Given the description of an element on the screen output the (x, y) to click on. 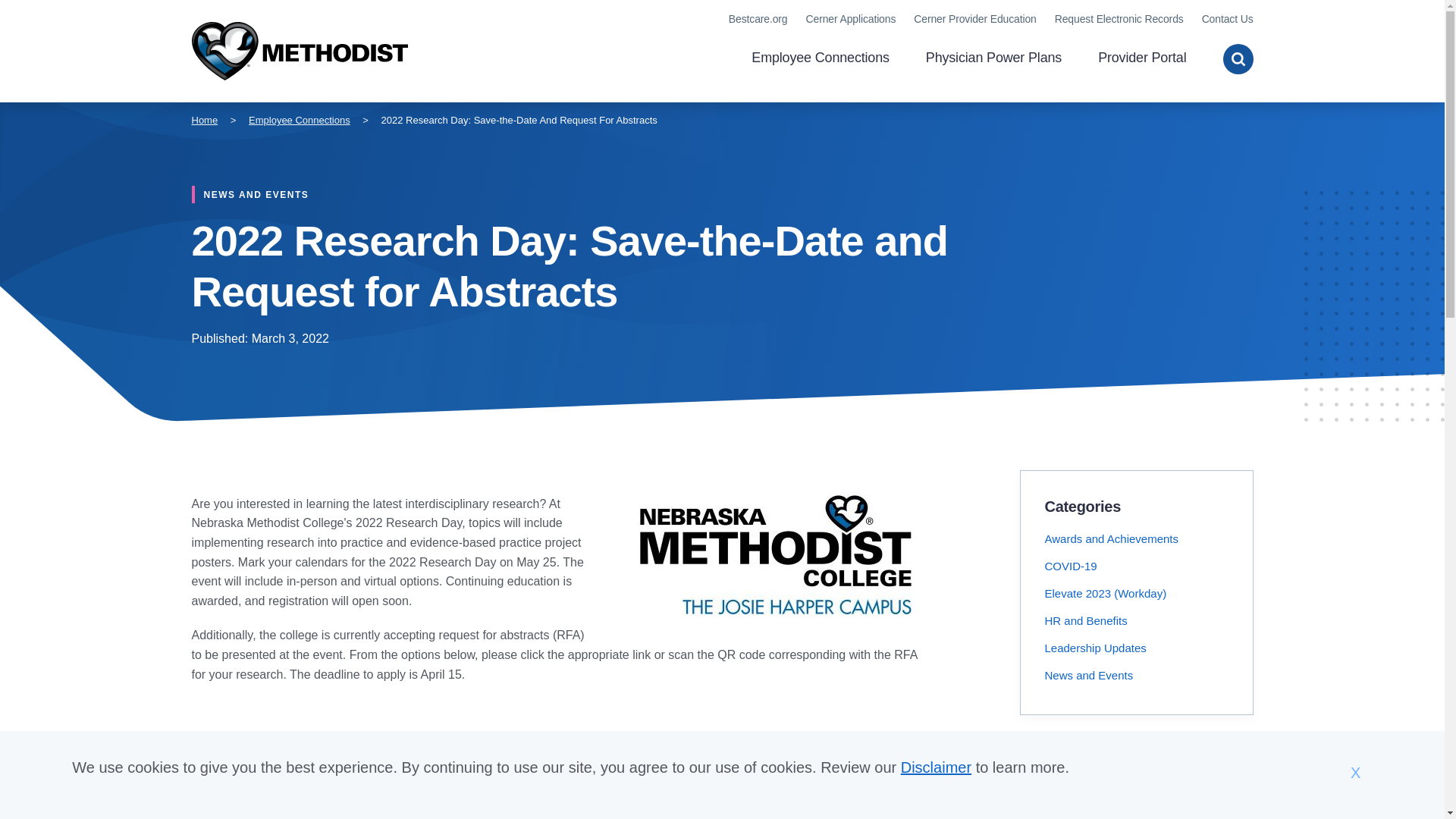
Home (298, 51)
Employee Connections (820, 59)
Physician Power Plans (993, 59)
Cerner Provider Education (974, 19)
Awards and Achievements (1112, 538)
Bestcare.org (758, 19)
Home (203, 120)
Methodist Health System (298, 51)
COVID-19 (1071, 565)
News and Events (1089, 675)
Employee Connections (299, 120)
Leadership Updates (1096, 647)
Contact Us (1227, 19)
Request Electronic Records (1118, 19)
Skip to main content (721, 6)
